Given the description of an element on the screen output the (x, y) to click on. 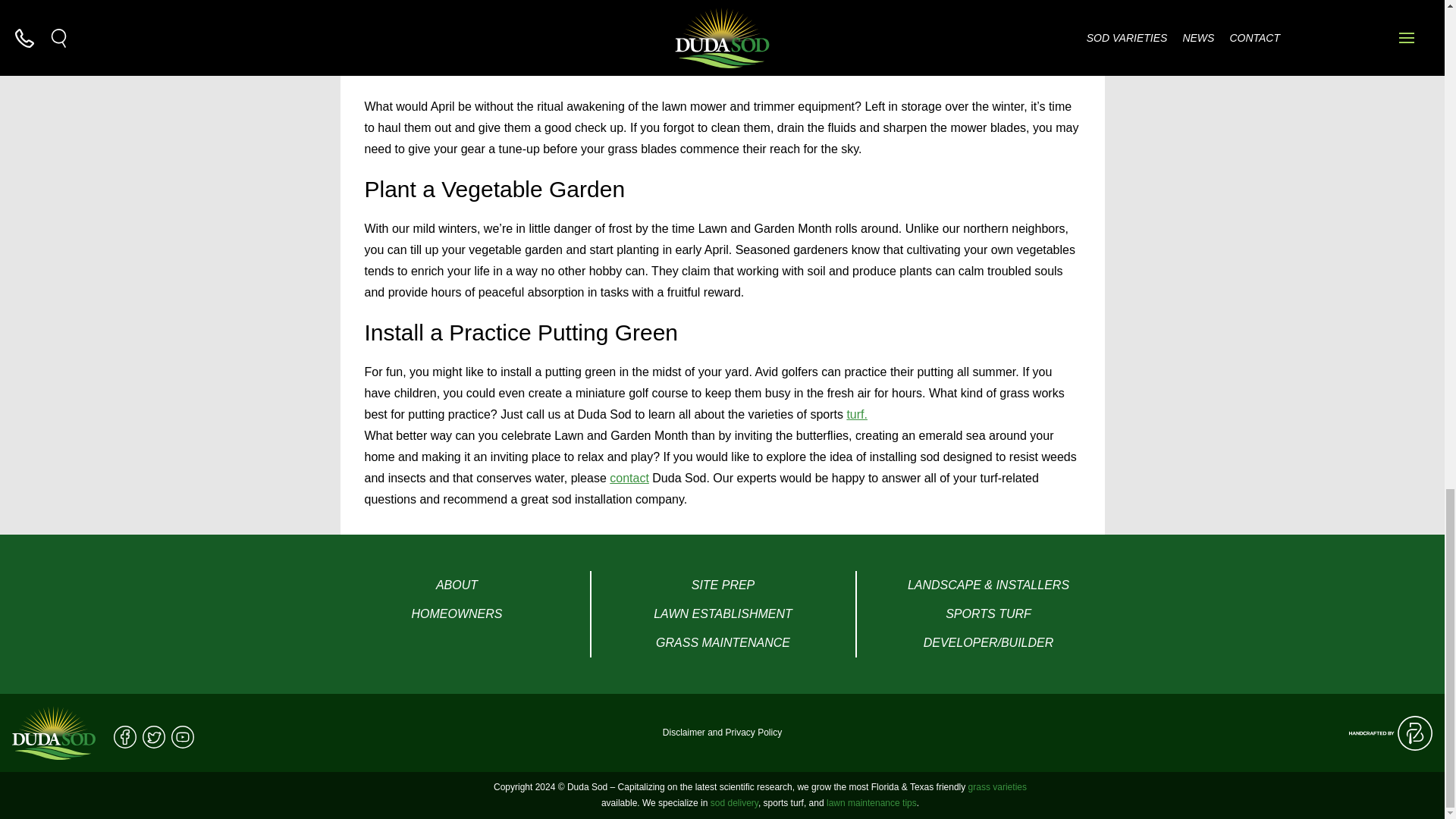
sod delivery (734, 802)
GRASS MAINTENANCE (723, 642)
turf. (856, 413)
LAWN ESTABLISHMENT (723, 613)
grass varieties (997, 787)
SITE PREP (723, 584)
Disclaimer and Privacy Policy (721, 732)
contact (629, 477)
lawn maintenance tips (872, 802)
HOMEOWNERS (456, 613)
